Given the description of an element on the screen output the (x, y) to click on. 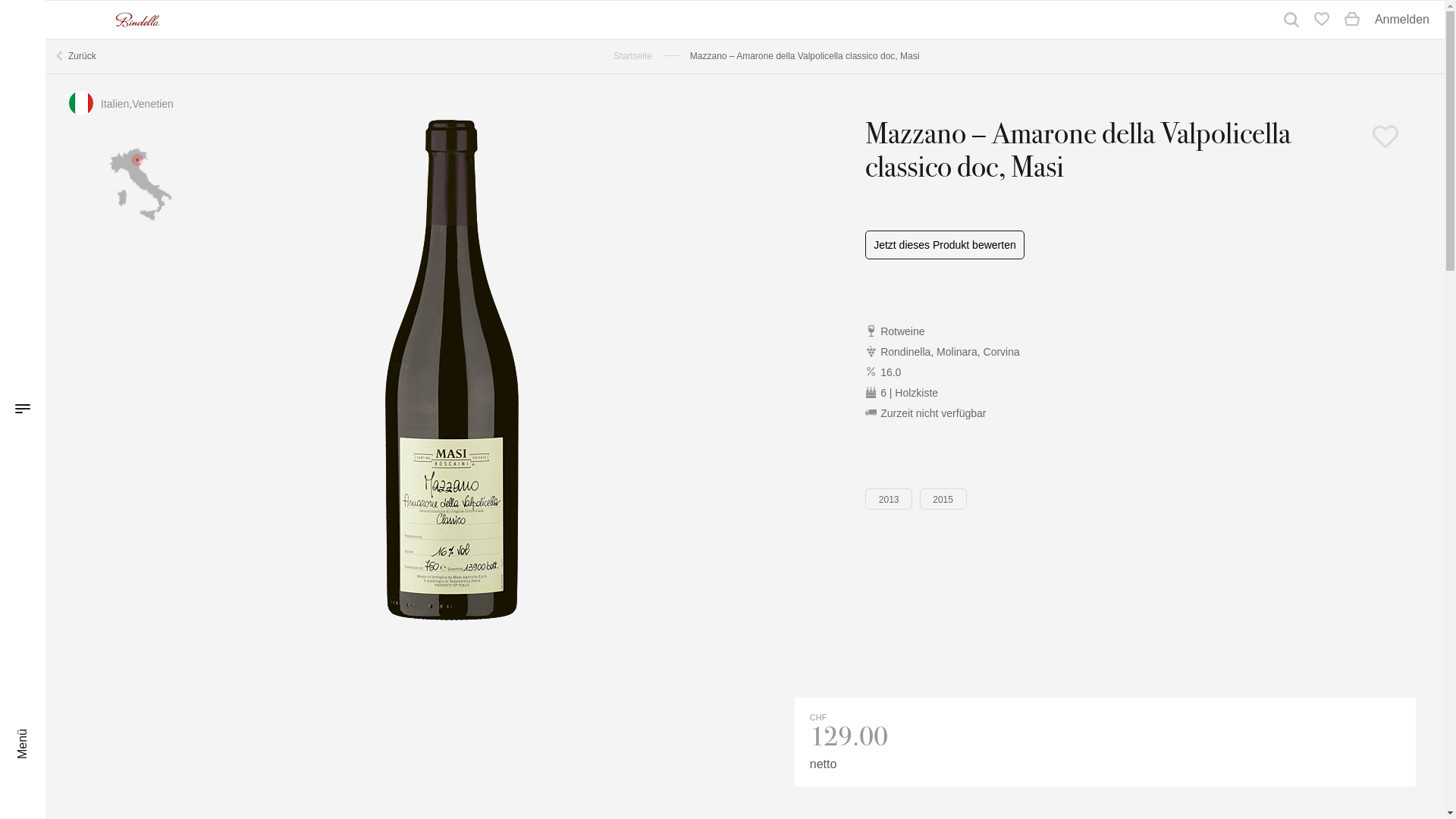
2013 Element type: text (888, 498)
Warenkorb Element type: text (1351, 19)
Startseite Element type: text (632, 55)
Jetzt dieses Produkt bewerten Element type: text (944, 244)
2015 Element type: text (942, 498)
Anmelden Element type: text (1401, 19)
